Given the description of an element on the screen output the (x, y) to click on. 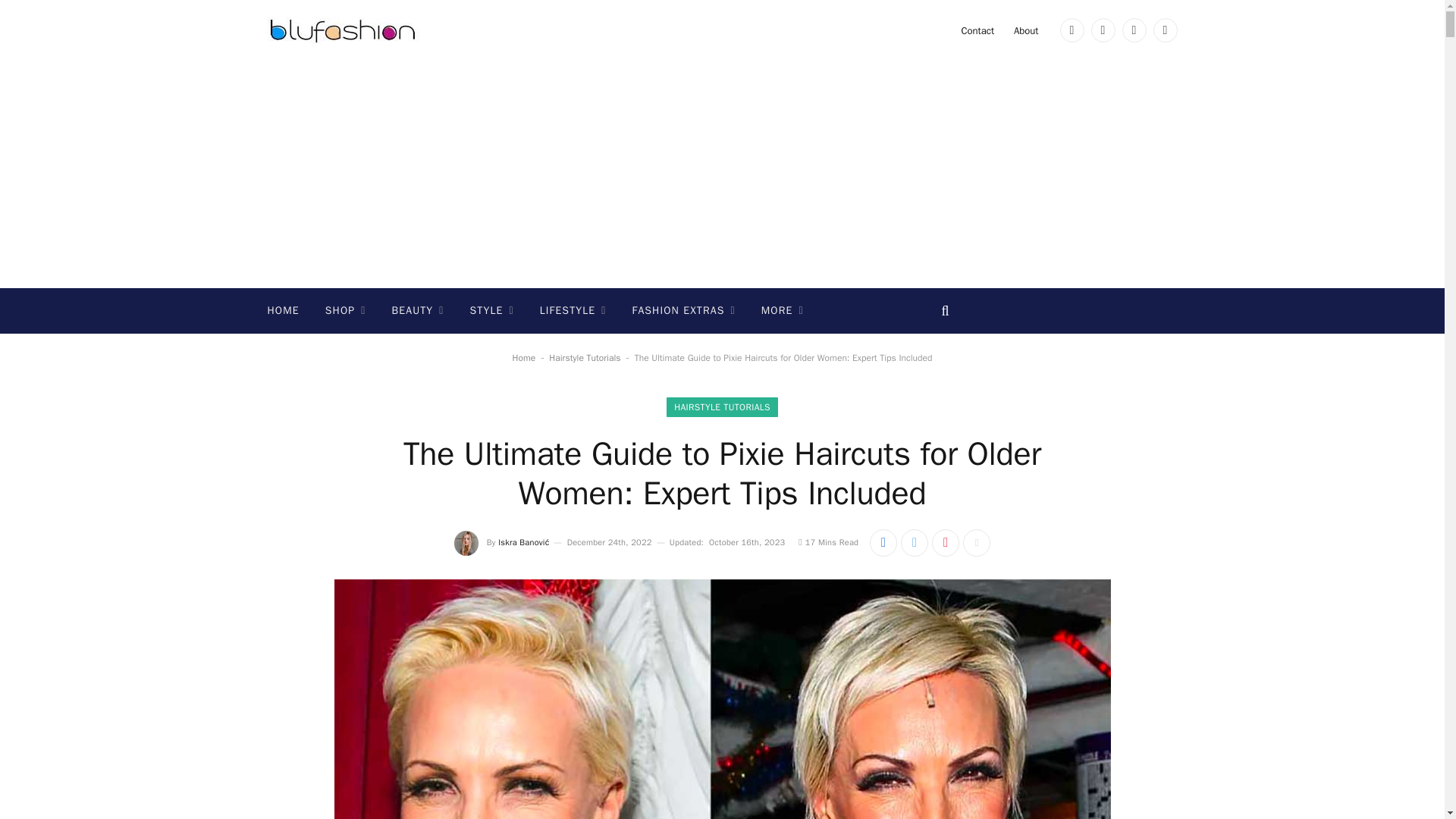
Share on Facebook (882, 542)
Share on Pinterest (945, 542)
Blufashion.com (342, 30)
Show More Social Sharing (976, 542)
